Given the description of an element on the screen output the (x, y) to click on. 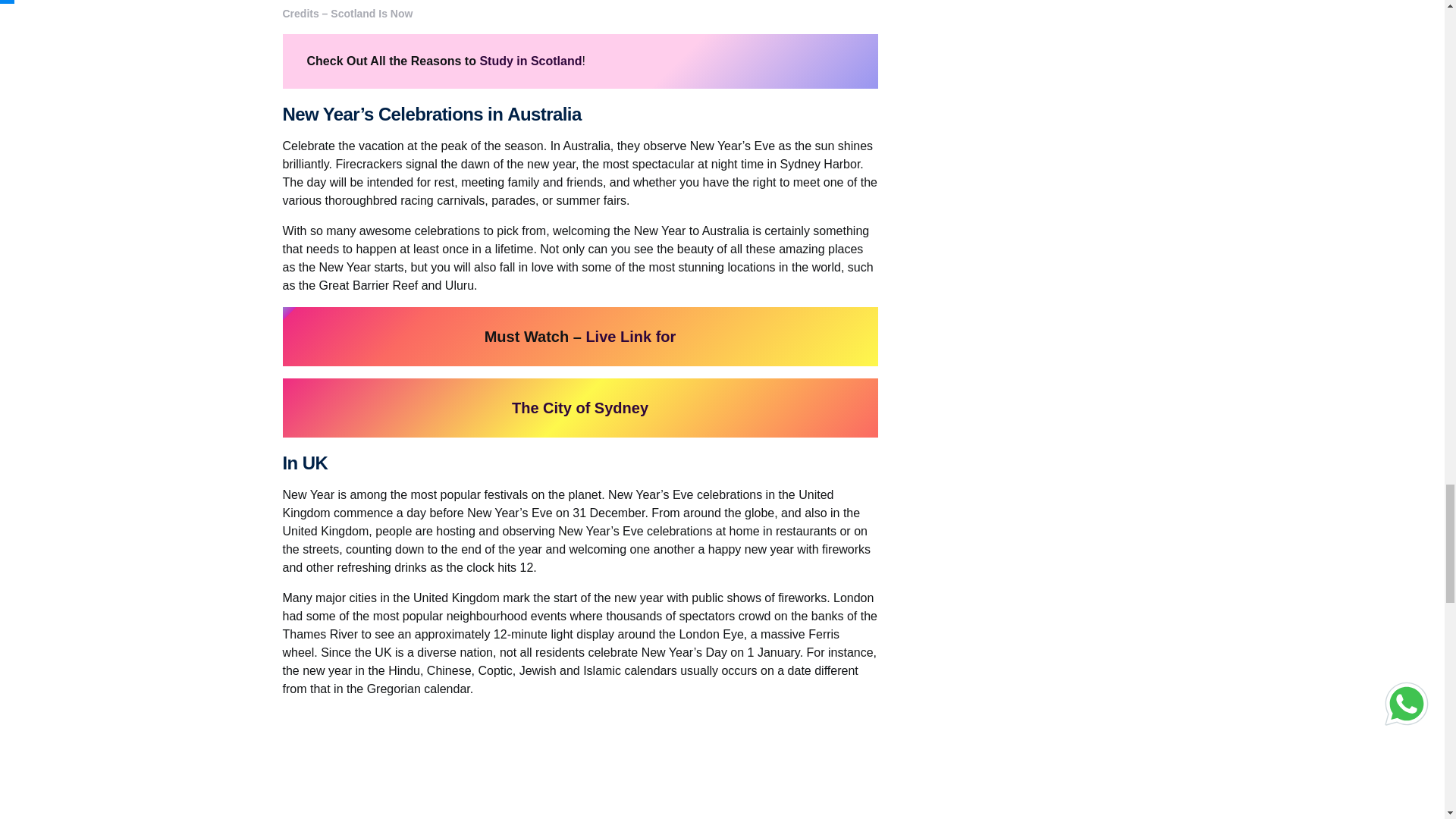
United Kingdom celebrates the New Year (579, 764)
